Given the description of an element on the screen output the (x, y) to click on. 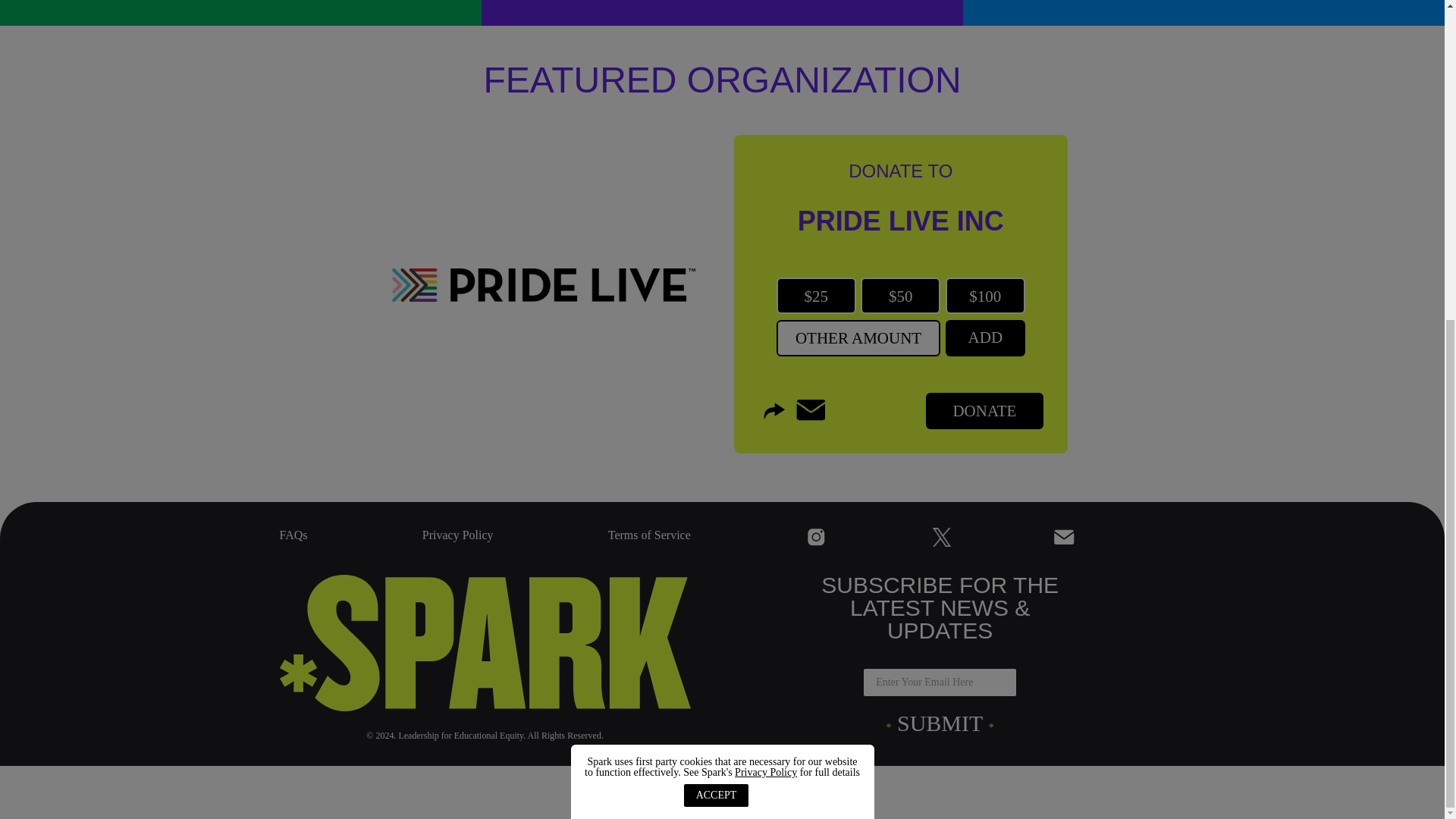
Privacy Policy (457, 535)
ACCEPT (716, 276)
FAQs (293, 535)
DONATE (984, 411)
Privacy Policy (765, 253)
ADD (984, 338)
Terms of Service (649, 535)
